Given the description of an element on the screen output the (x, y) to click on. 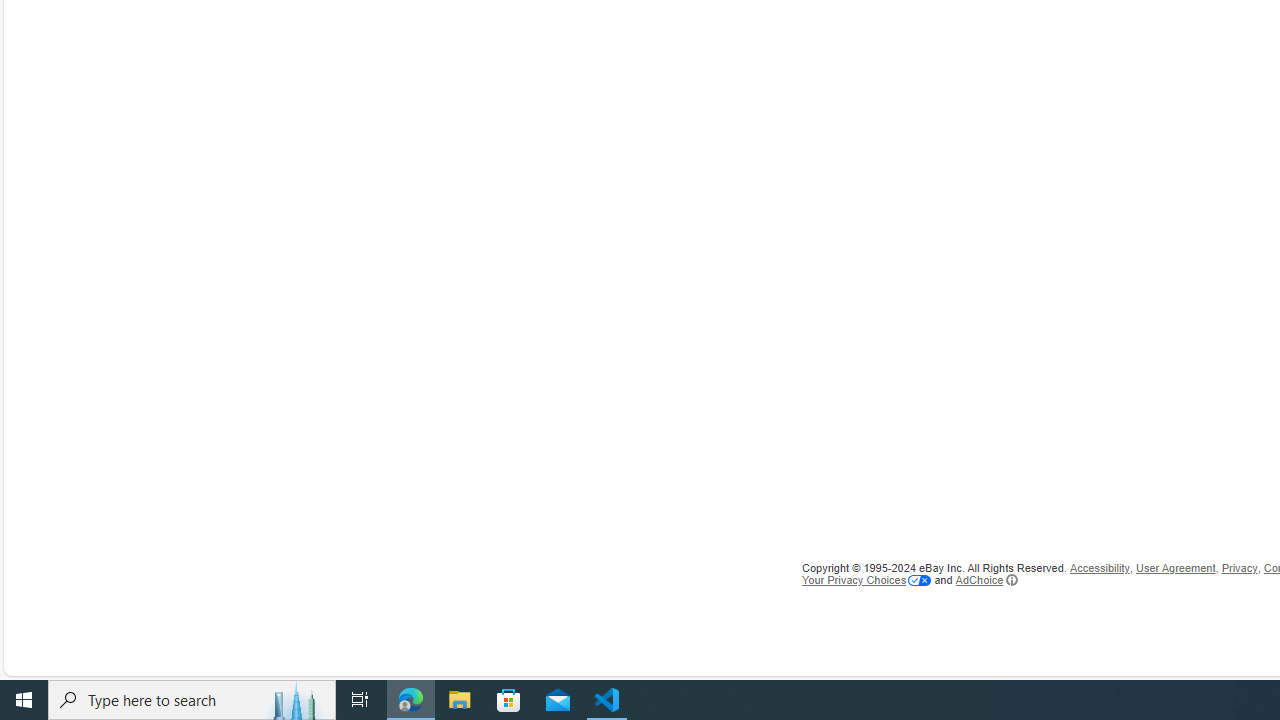
User Agreement (1176, 567)
Privacy (1239, 567)
AdChoice (986, 579)
Your Privacy Choices (866, 579)
Accessibility (1099, 567)
